Given the description of an element on the screen output the (x, y) to click on. 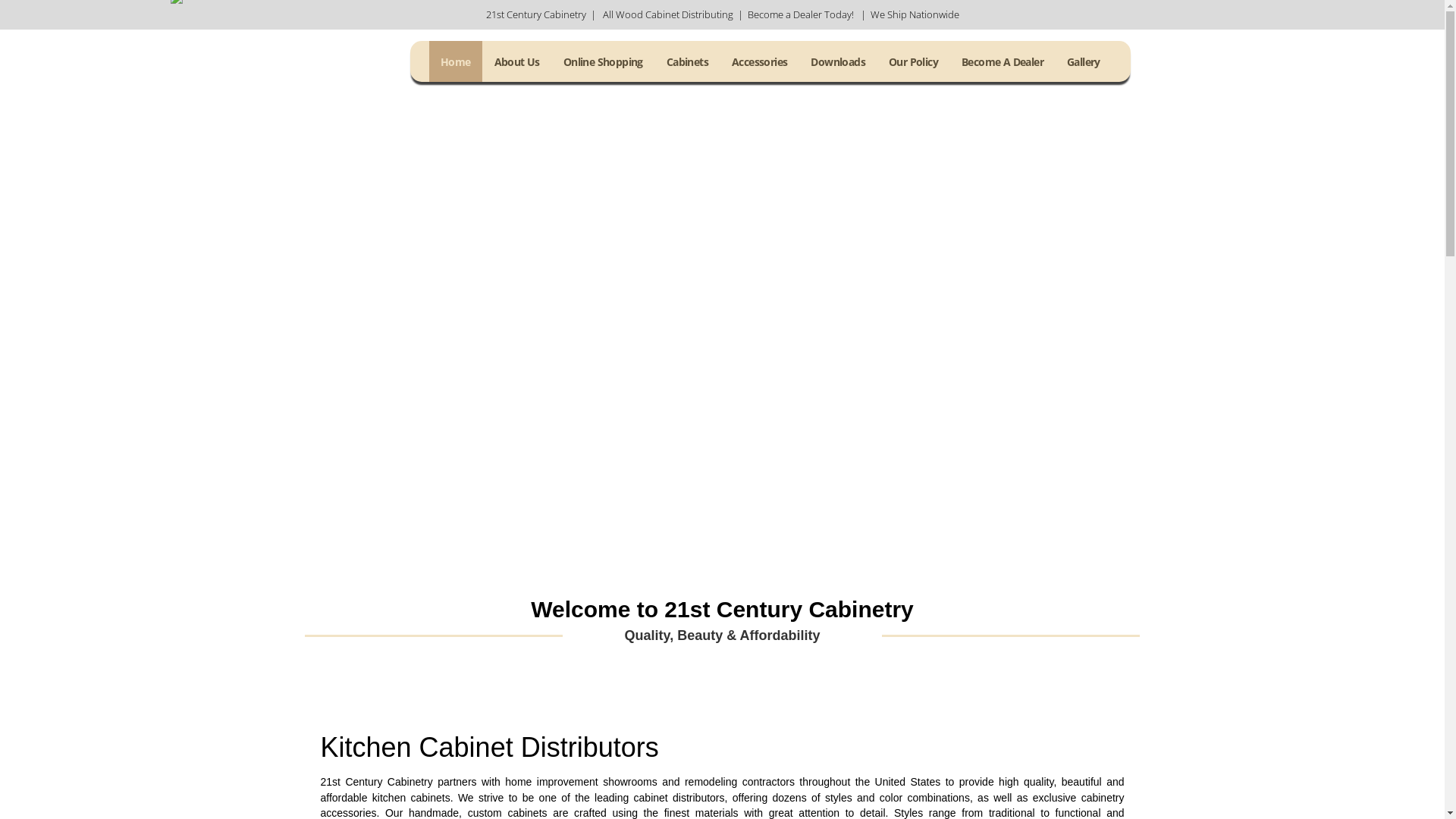
Accessories Element type: text (759, 60)
Our Policy Element type: text (913, 60)
Cabinets Element type: text (687, 60)
Become A Dealer Element type: text (1002, 60)
Gallery Element type: text (1083, 60)
Downloads Element type: text (837, 60)
Home Element type: text (455, 60)
About Us Element type: text (517, 60)
Online Shopping Element type: text (603, 60)
